Given the description of an element on the screen output the (x, y) to click on. 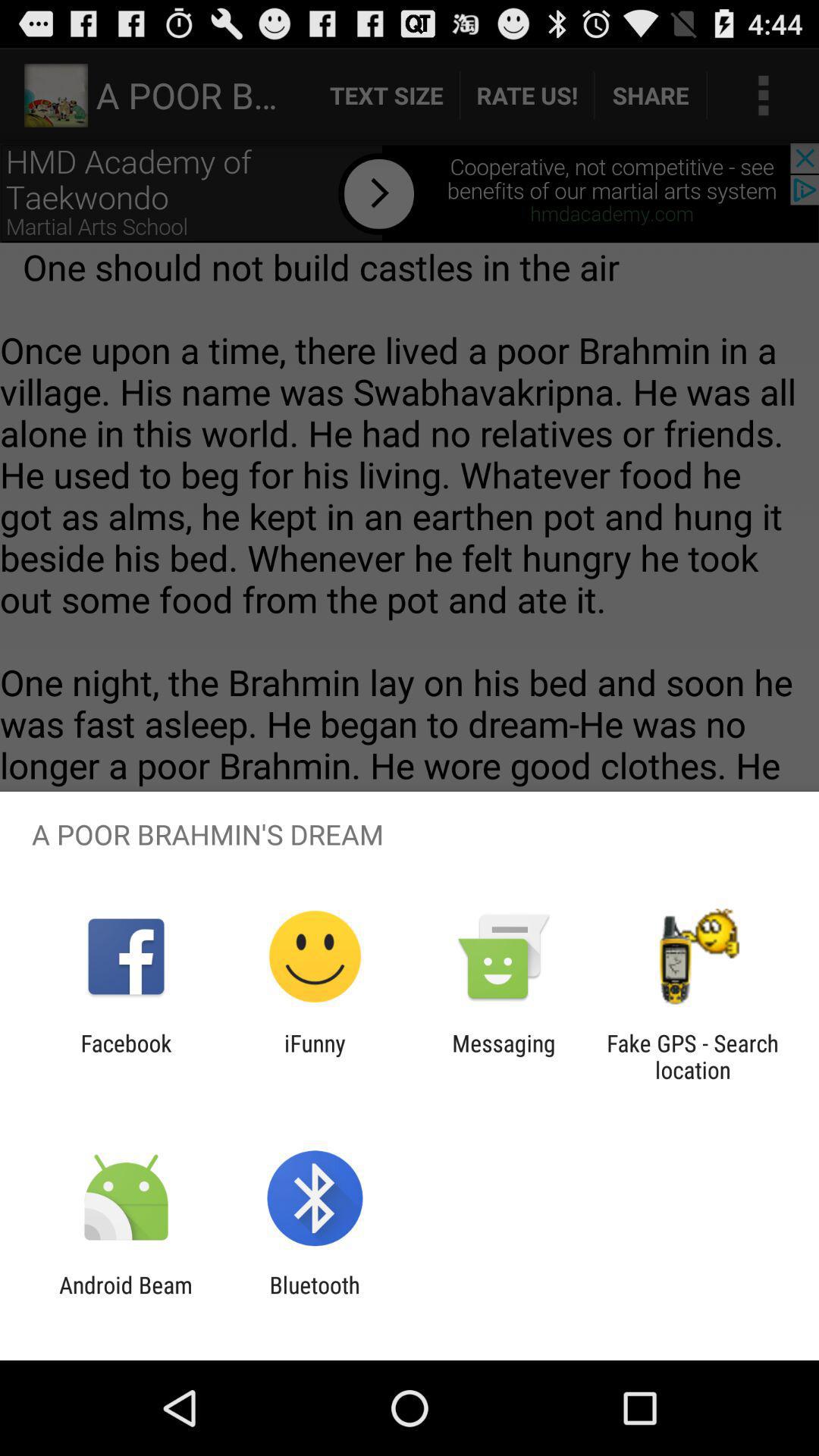
launch app next to android beam item (314, 1298)
